Given the description of an element on the screen output the (x, y) to click on. 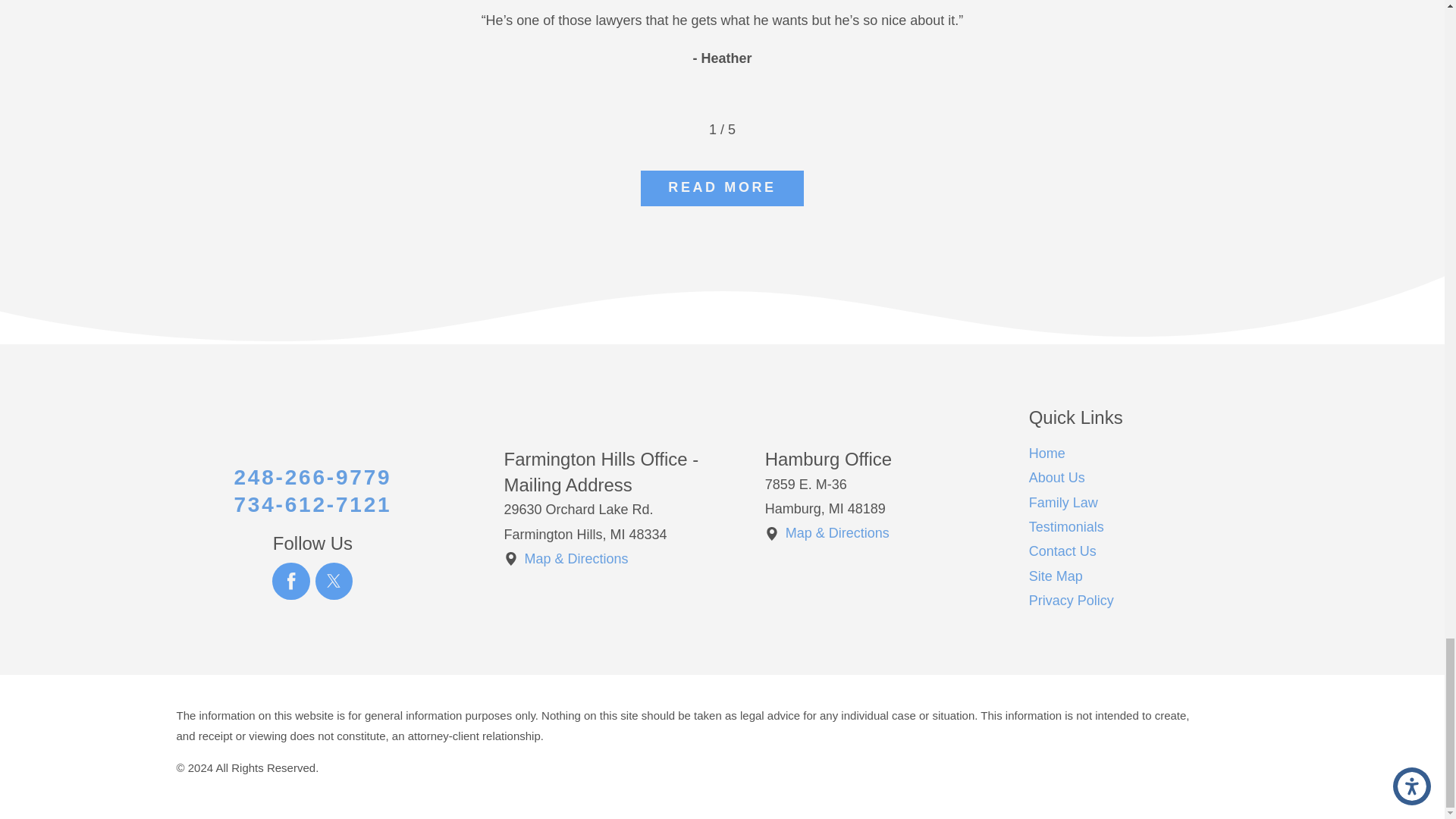
View next item (759, 129)
View previous item (684, 129)
